Given the description of an element on the screen output the (x, y) to click on. 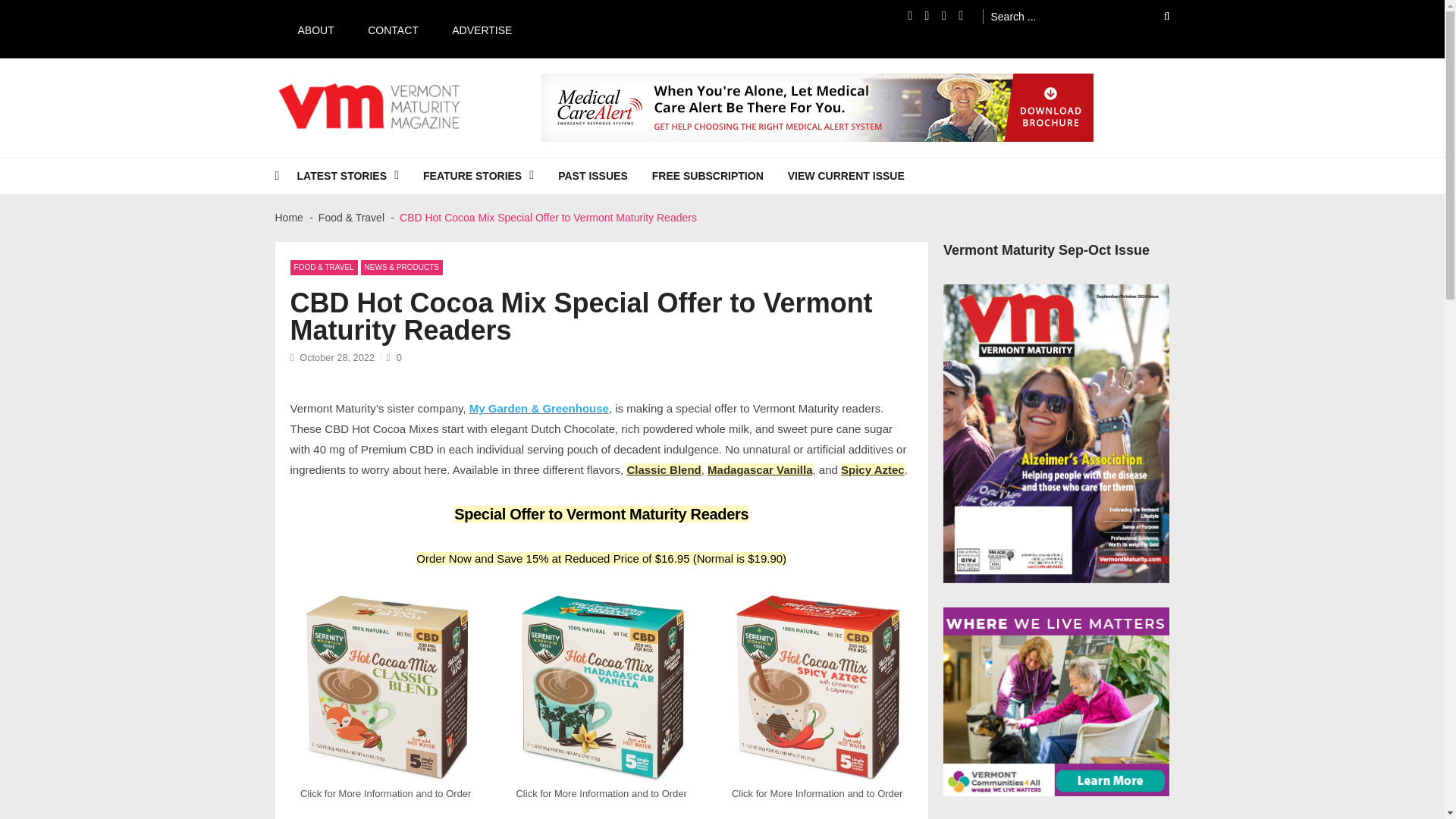
ABOUT (307, 29)
CONTACT (385, 29)
ADVERTISE (474, 29)
Search (1156, 15)
Search (1156, 15)
